Given the description of an element on the screen output the (x, y) to click on. 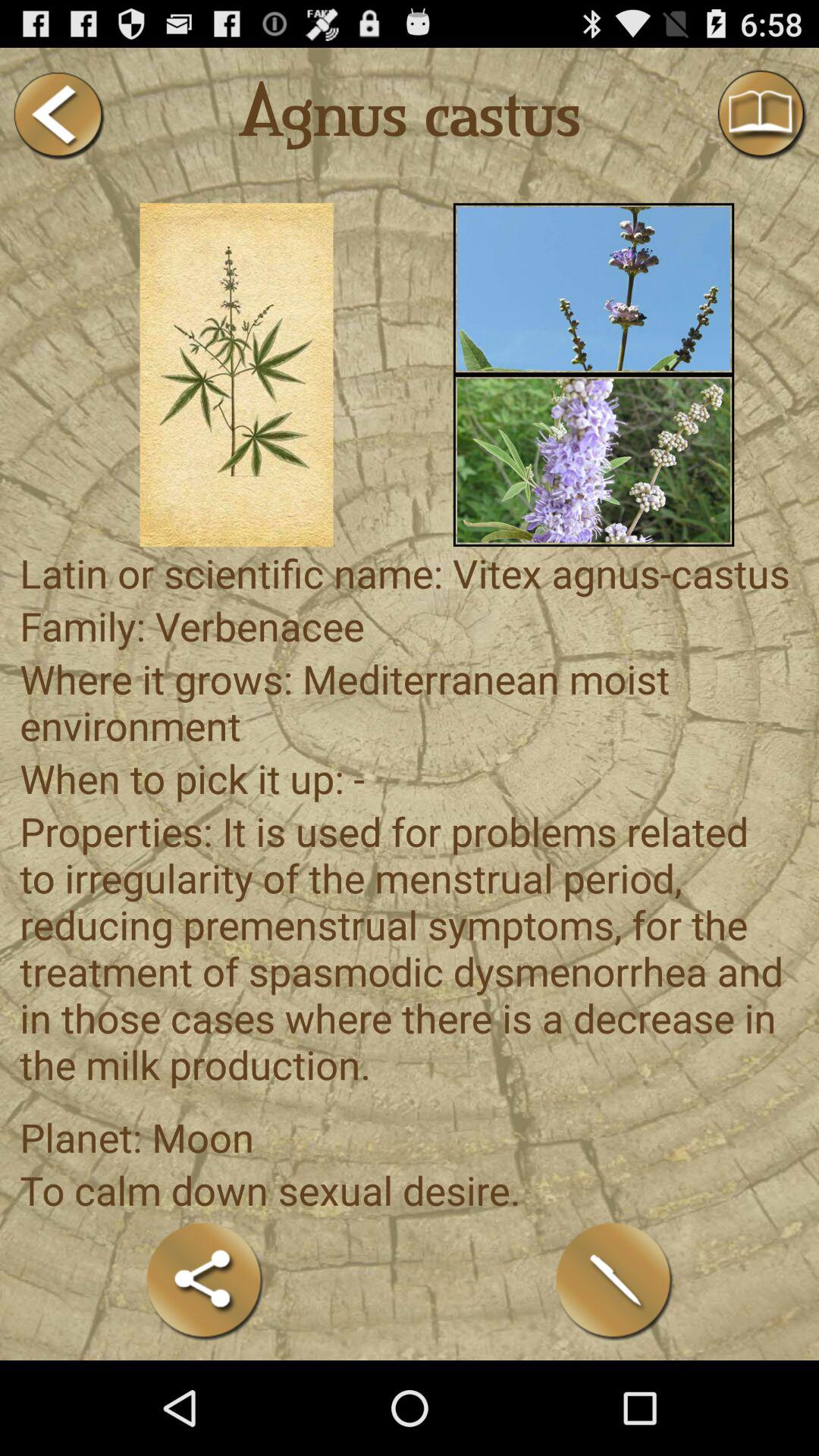
go back (57, 115)
